Given the description of an element on the screen output the (x, y) to click on. 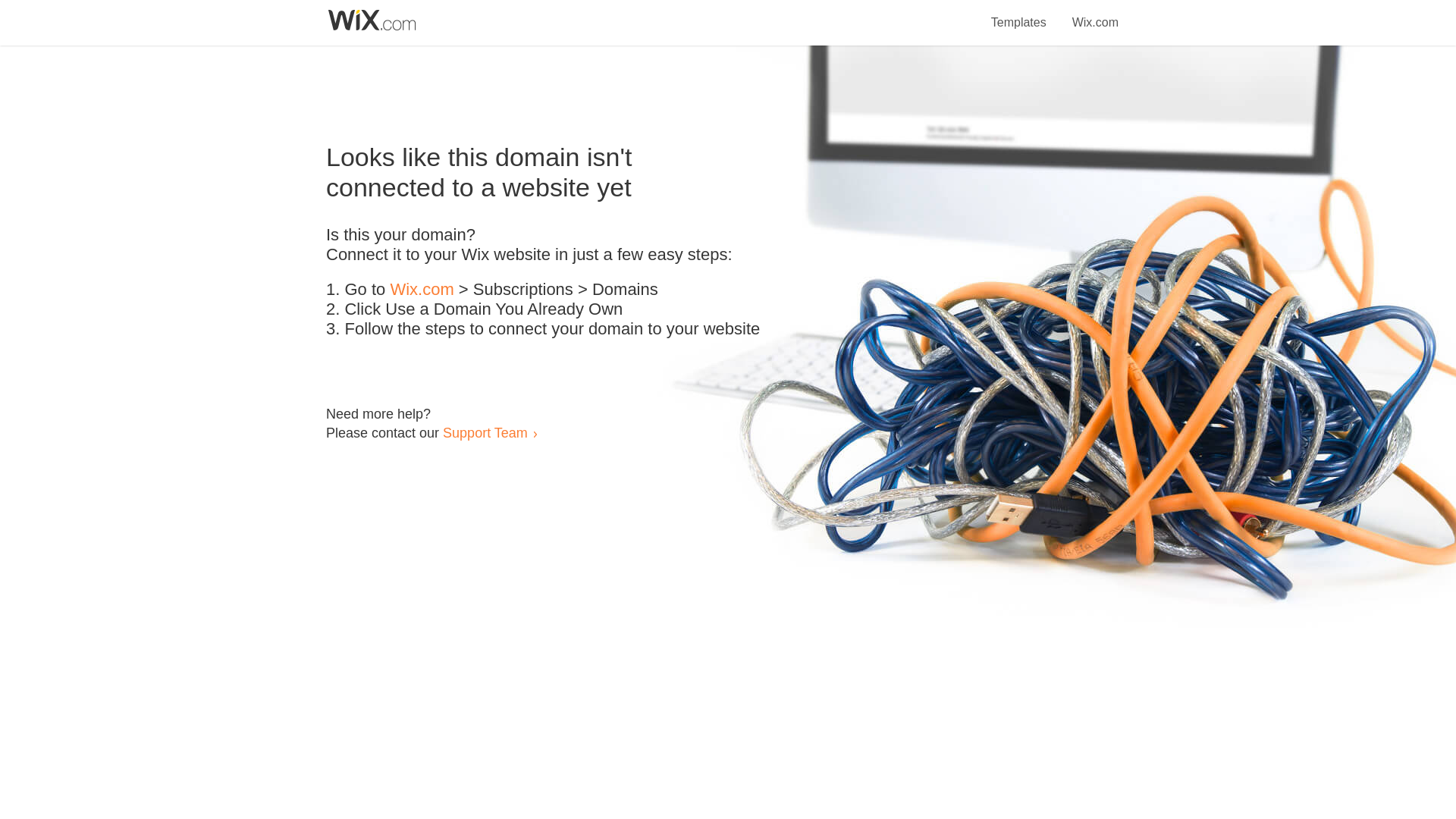
Wix.com (421, 289)
Support Team (484, 432)
Templates (1018, 14)
Wix.com (1095, 14)
